Given the description of an element on the screen output the (x, y) to click on. 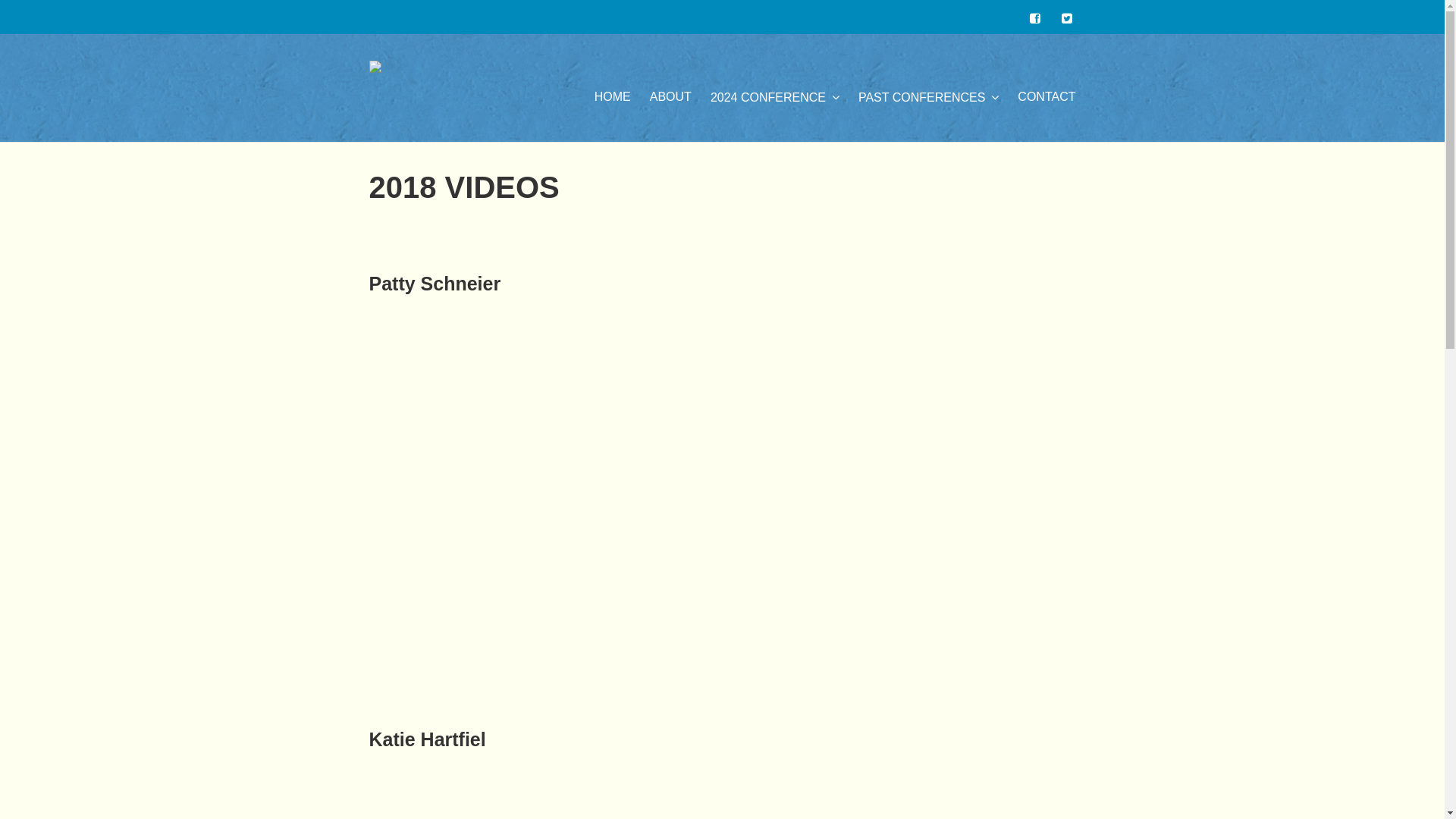
PAST CONFERENCES Element type: text (928, 113)
2024 CONFERENCE Element type: text (774, 113)
CONTACT Element type: text (1046, 113)
138Women Element type: hover (374, 87)
ABOUT Element type: text (670, 113)
HOME Element type: text (612, 113)
